Given the description of an element on the screen output the (x, y) to click on. 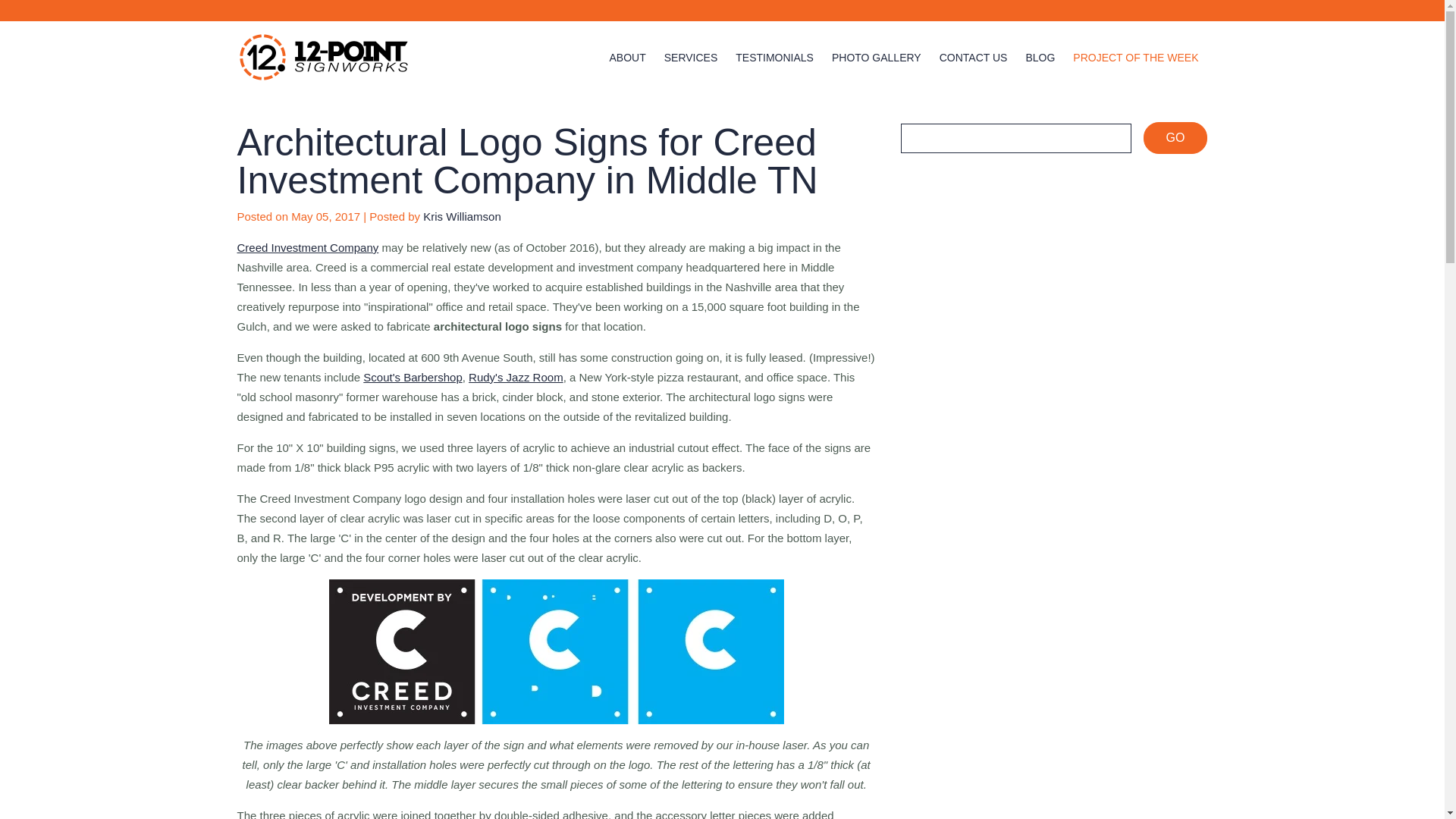
PHOTO GALLERY (876, 57)
CONTACT US (973, 57)
logo.png (322, 57)
TESTIMONIALS (774, 57)
PROJECT OF THE WEEK (1135, 57)
BLOG (1039, 57)
ABOUT (626, 57)
SERVICES (690, 57)
